Given the description of an element on the screen output the (x, y) to click on. 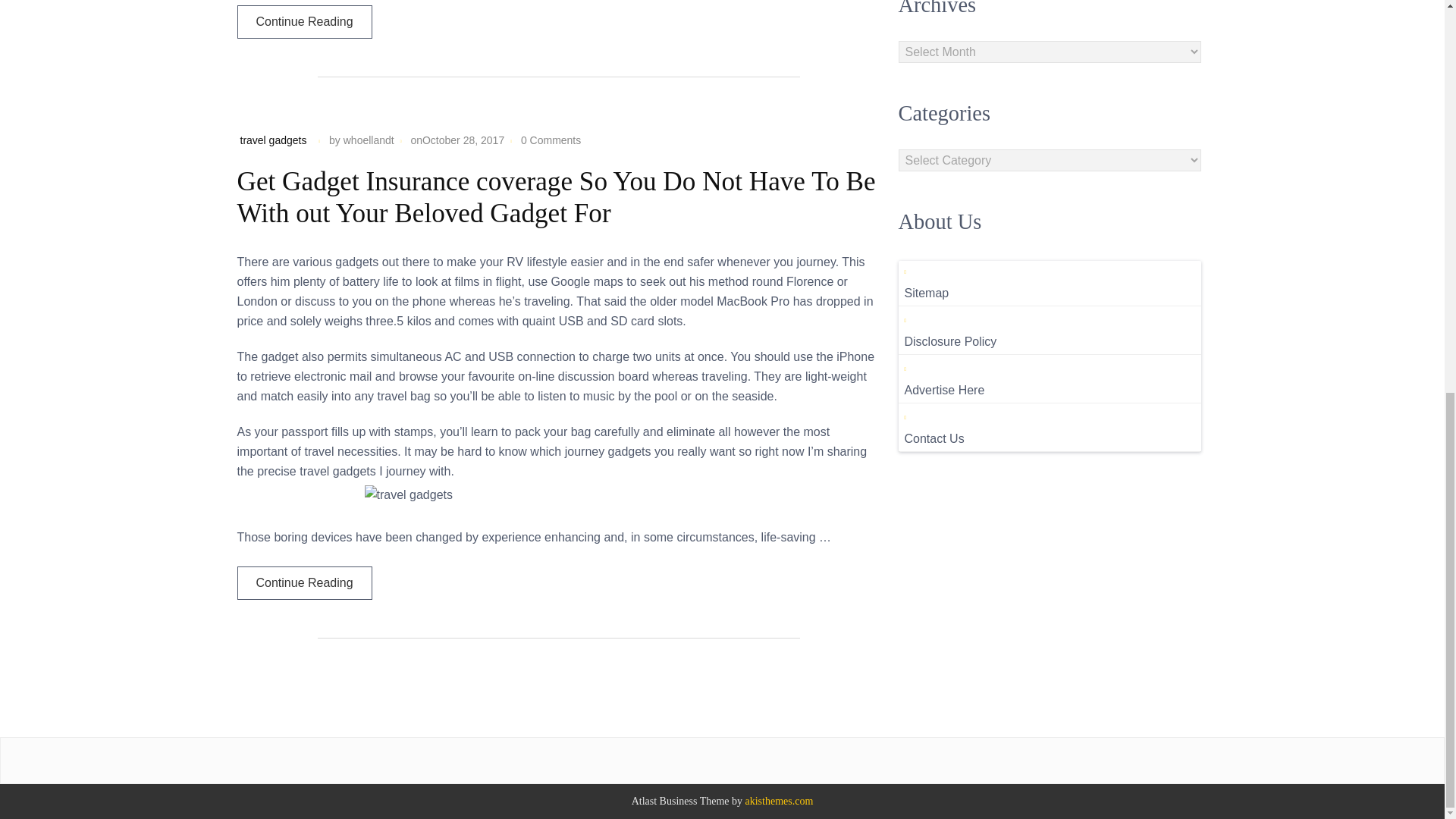
Continue Reading (303, 21)
travel gadgets (272, 140)
tippek.org (779, 800)
Continue Reading (303, 582)
